Given the description of an element on the screen output the (x, y) to click on. 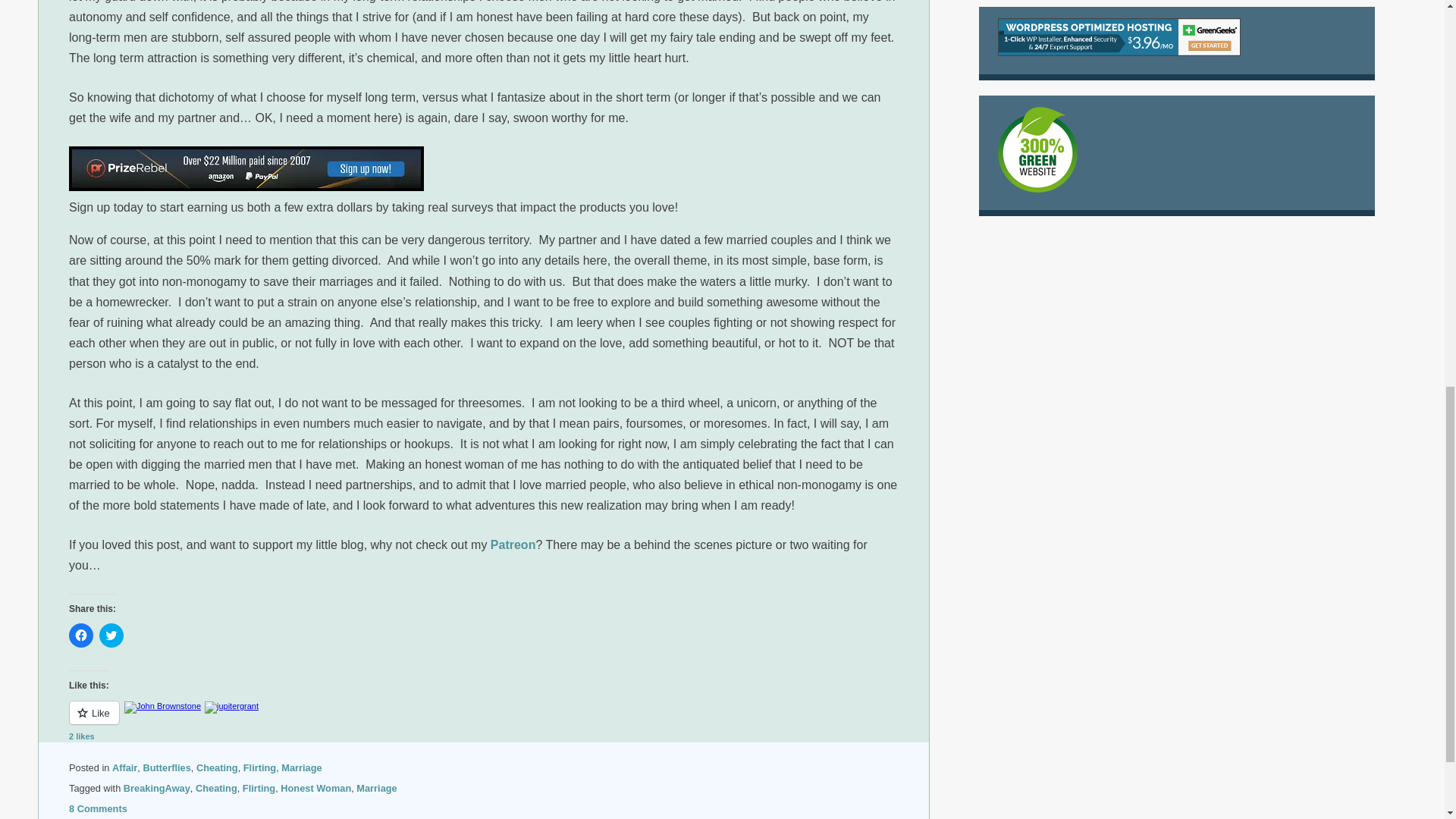
Honest Woman (315, 787)
Cheating (217, 767)
Like or Reblog (483, 721)
Cheating (216, 787)
8 Comments (98, 808)
Click to share on Twitter (111, 635)
Affair (124, 767)
Marriage (376, 787)
Butterflies (166, 767)
Patreon (512, 544)
Click to share on Facebook (80, 635)
Marriage (301, 767)
Flirting (259, 787)
BreakingAway (156, 787)
Flirting (259, 767)
